Given the description of an element on the screen output the (x, y) to click on. 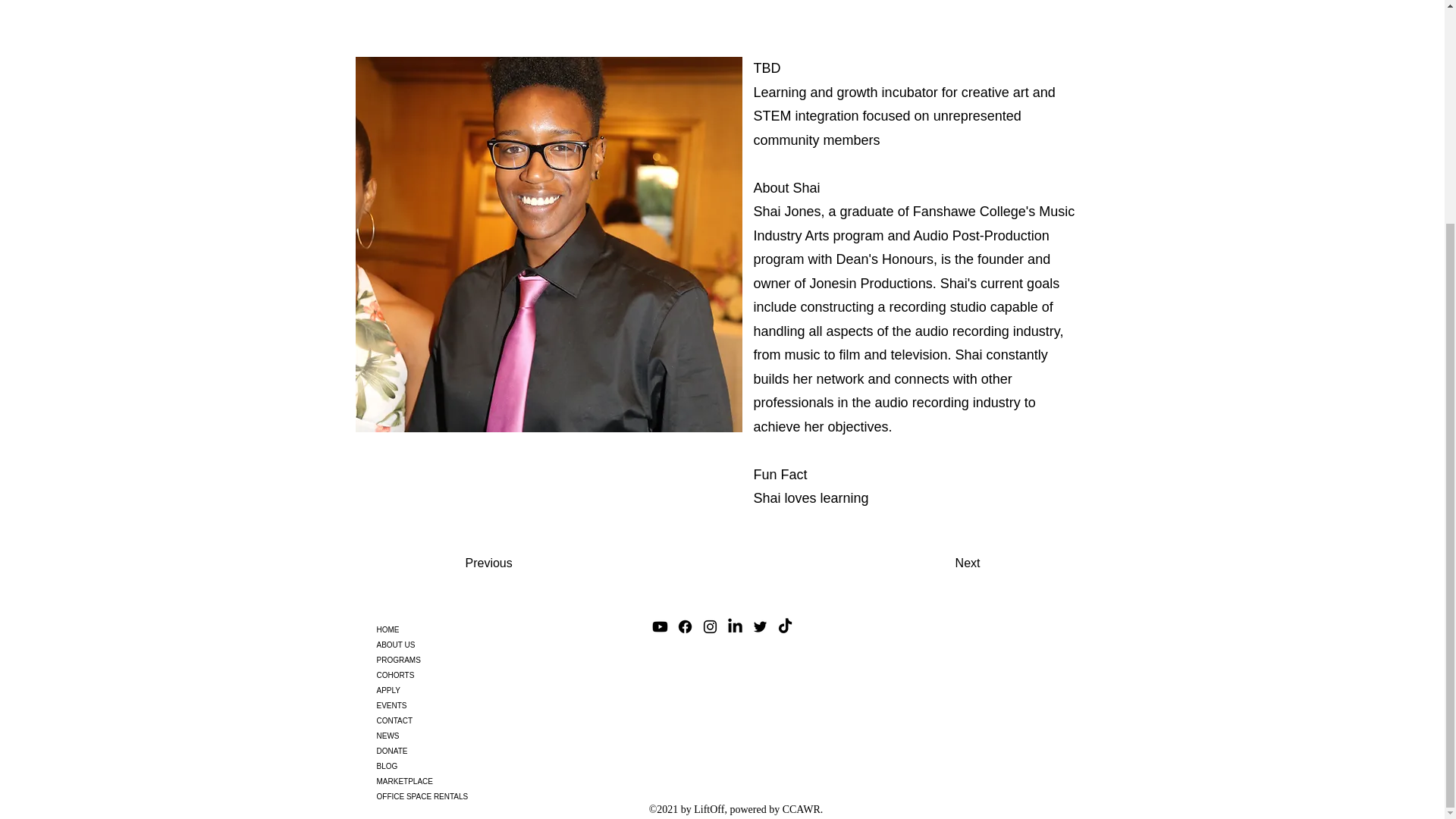
Next (942, 563)
ABOUT US (437, 645)
HOME (437, 630)
Previous (515, 563)
